Given the description of an element on the screen output the (x, y) to click on. 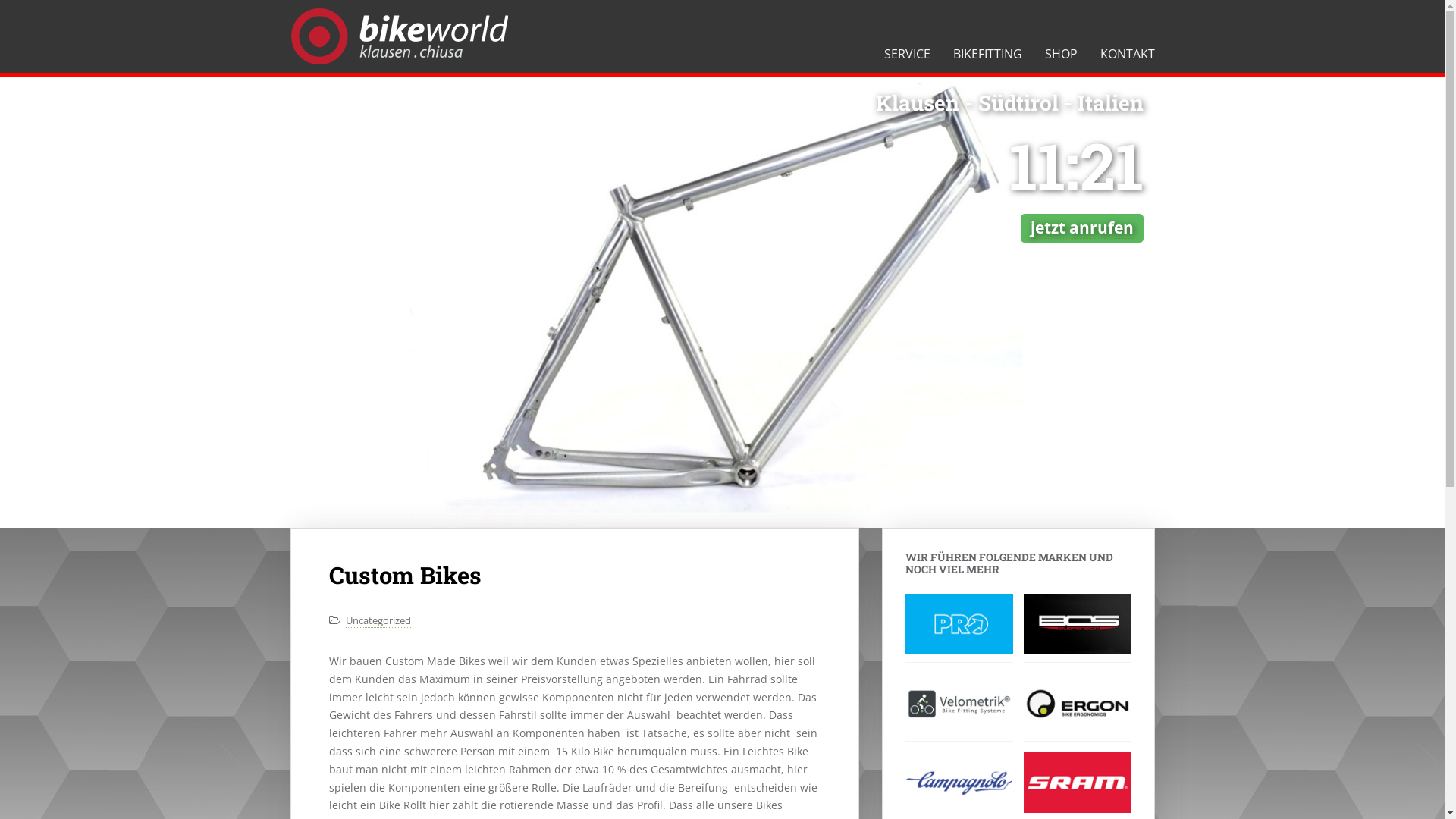
jetzt anrufen Element type: text (1081, 227)
SHOP Element type: text (1060, 53)
Uncategorized Element type: text (378, 620)
KONTAKT Element type: text (1127, 53)
SERVICE Element type: text (906, 53)
BIKEFITTING Element type: text (987, 53)
